Given the description of an element on the screen output the (x, y) to click on. 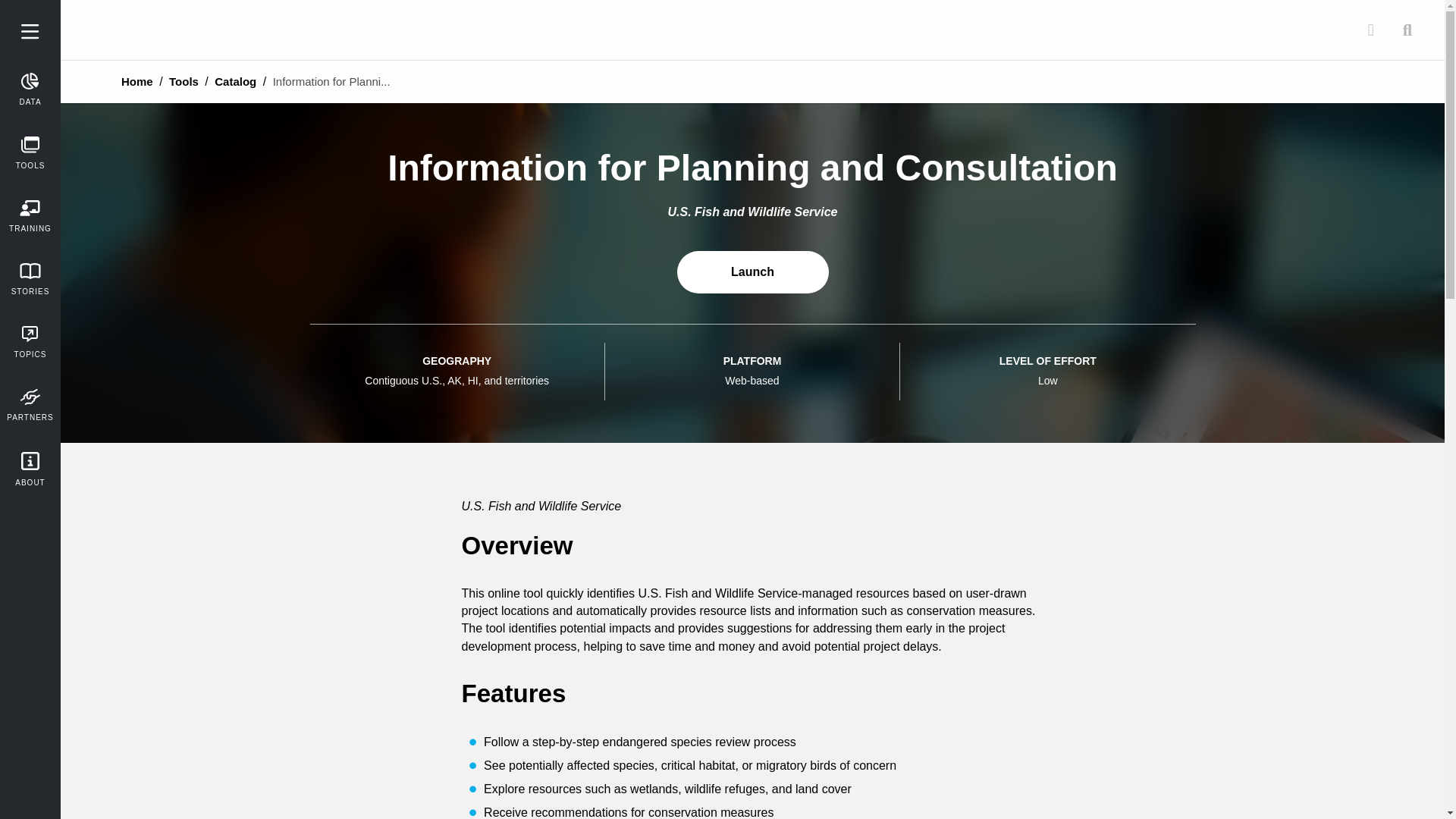
TOPICS (30, 342)
PARTNERS (30, 405)
Topics (30, 342)
About (30, 468)
Tools (30, 152)
Training (30, 216)
Home (136, 81)
DATA (30, 88)
STORIES (30, 278)
Partners (30, 405)
